Given the description of an element on the screen output the (x, y) to click on. 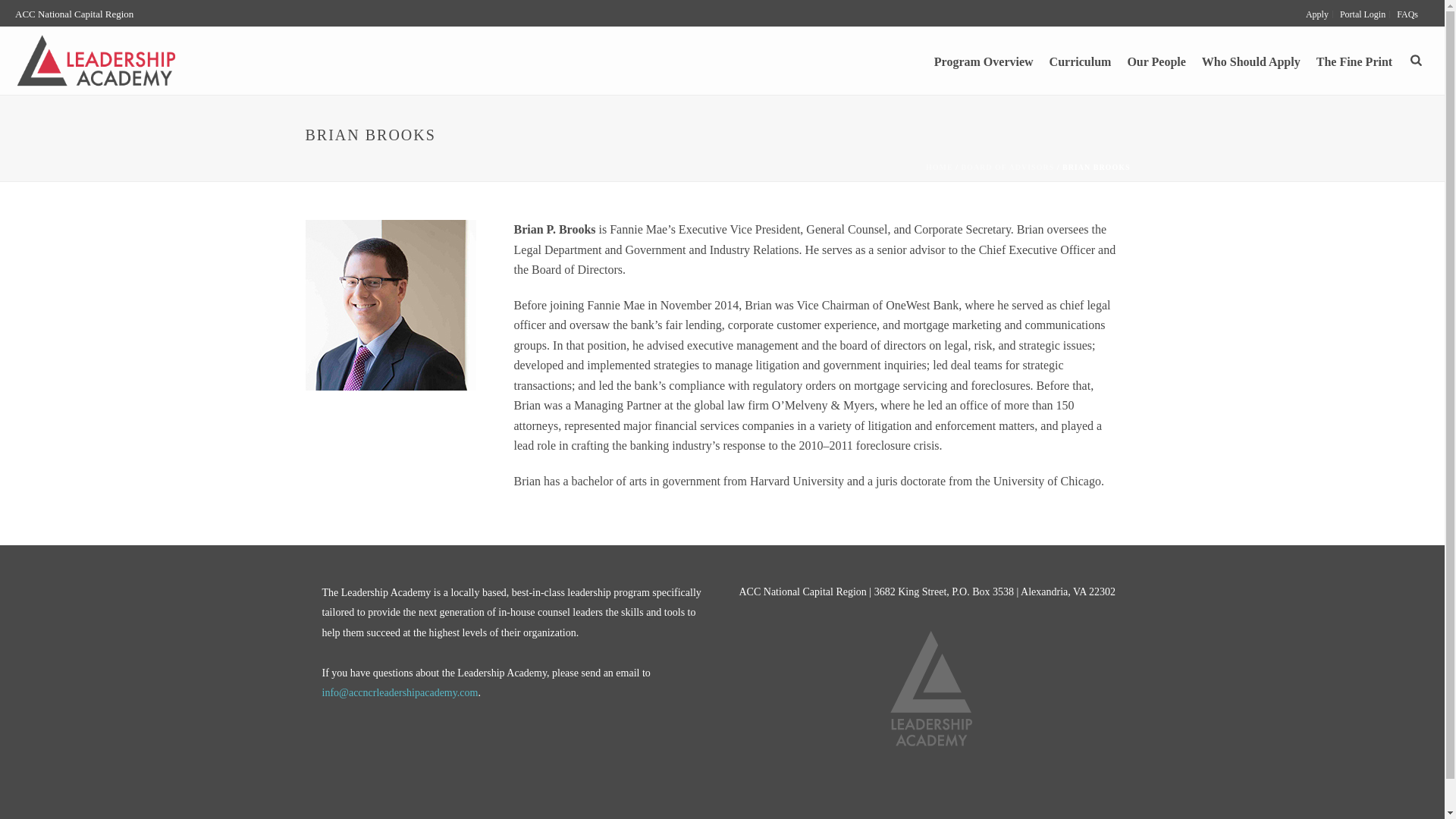
Who Should Apply (1250, 60)
Page 1 (814, 393)
The Fine Print (1353, 60)
HOME (939, 166)
Our People (1155, 60)
Curriculum (1080, 60)
Apply (1317, 14)
FAQs (1407, 14)
brian brooks (390, 305)
Portal Login (1363, 14)
BOARD OF ADVISORS (1007, 166)
Program Overview (983, 60)
Curriculum (1080, 60)
The Fine Print (1353, 60)
Who Should Apply (1250, 60)
